Given the description of an element on the screen output the (x, y) to click on. 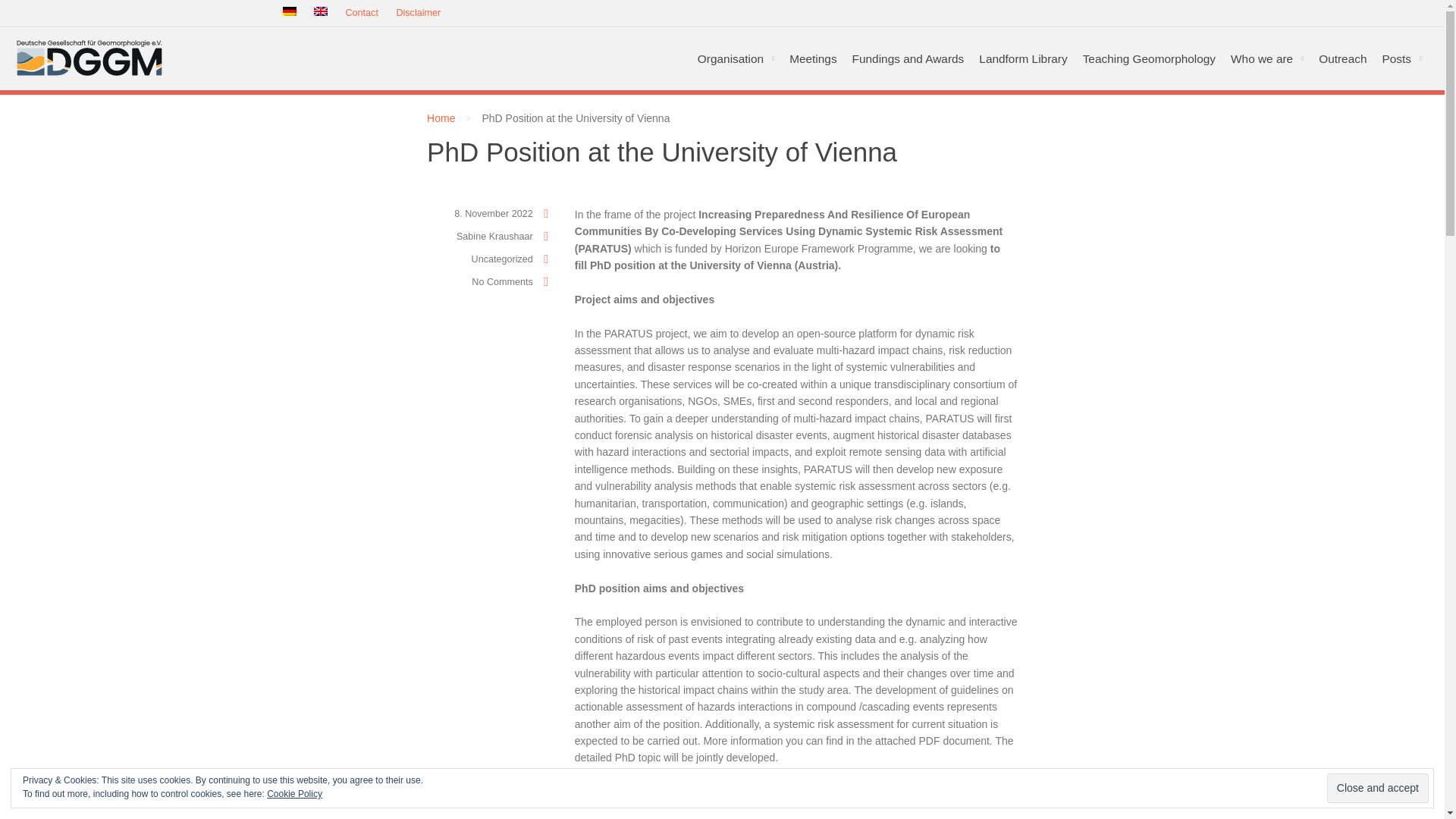
Who we are (1267, 58)
Organisation (735, 58)
Teaching Geomorphology (1149, 58)
Close and accept (1377, 788)
Sabine Kraushaar (494, 235)
No Comments (501, 281)
Uncategorized (501, 258)
Home (440, 118)
Fundings and Awards (908, 58)
Landform Library (1022, 58)
Disclaimer (418, 13)
View all posts by Sabine Kraushaar (494, 235)
Outreach (1342, 58)
Contact (361, 13)
Meetings (812, 58)
